Given the description of an element on the screen output the (x, y) to click on. 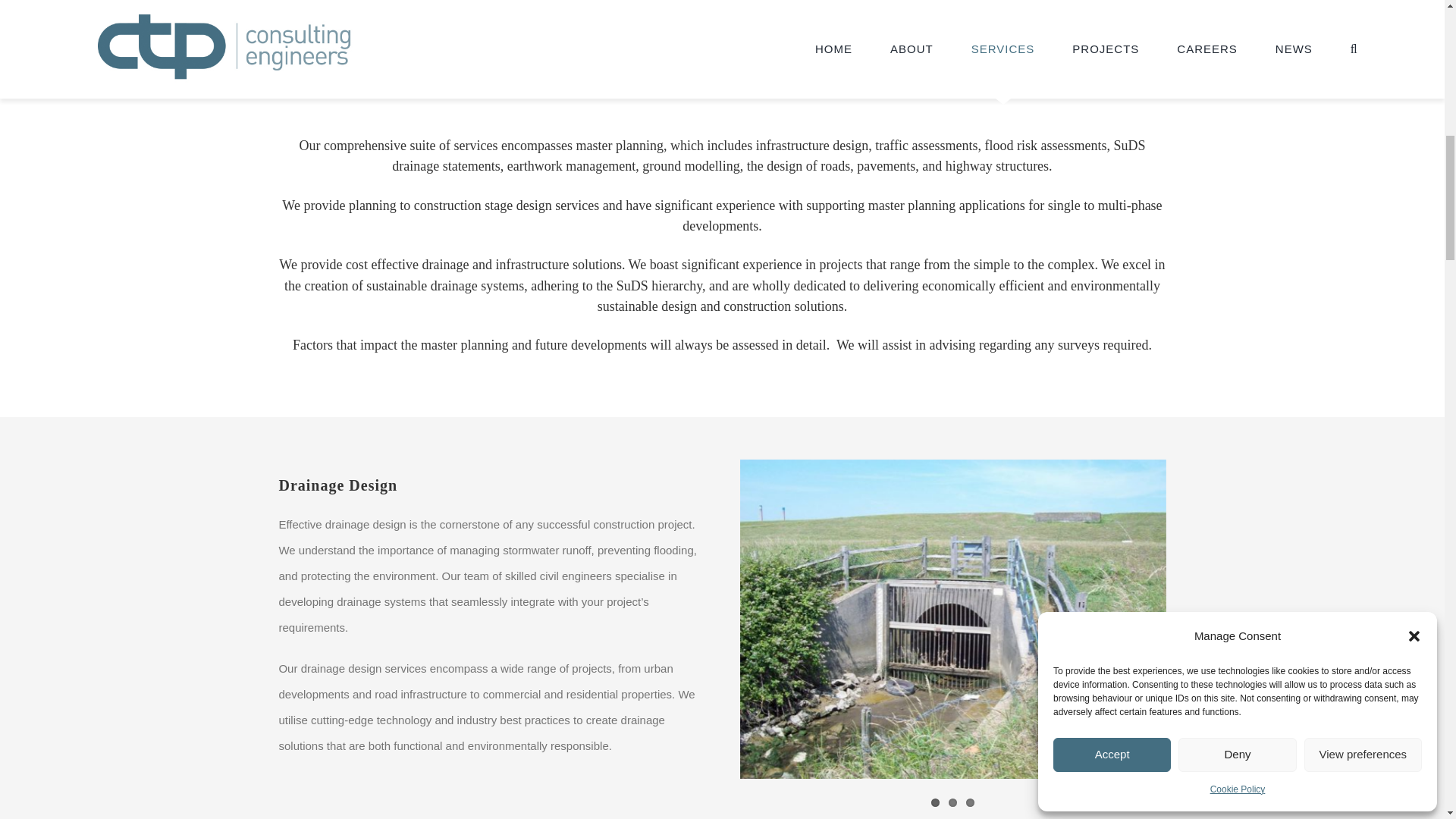
3 (970, 802)
1 (935, 802)
2 (952, 802)
